Given the description of an element on the screen output the (x, y) to click on. 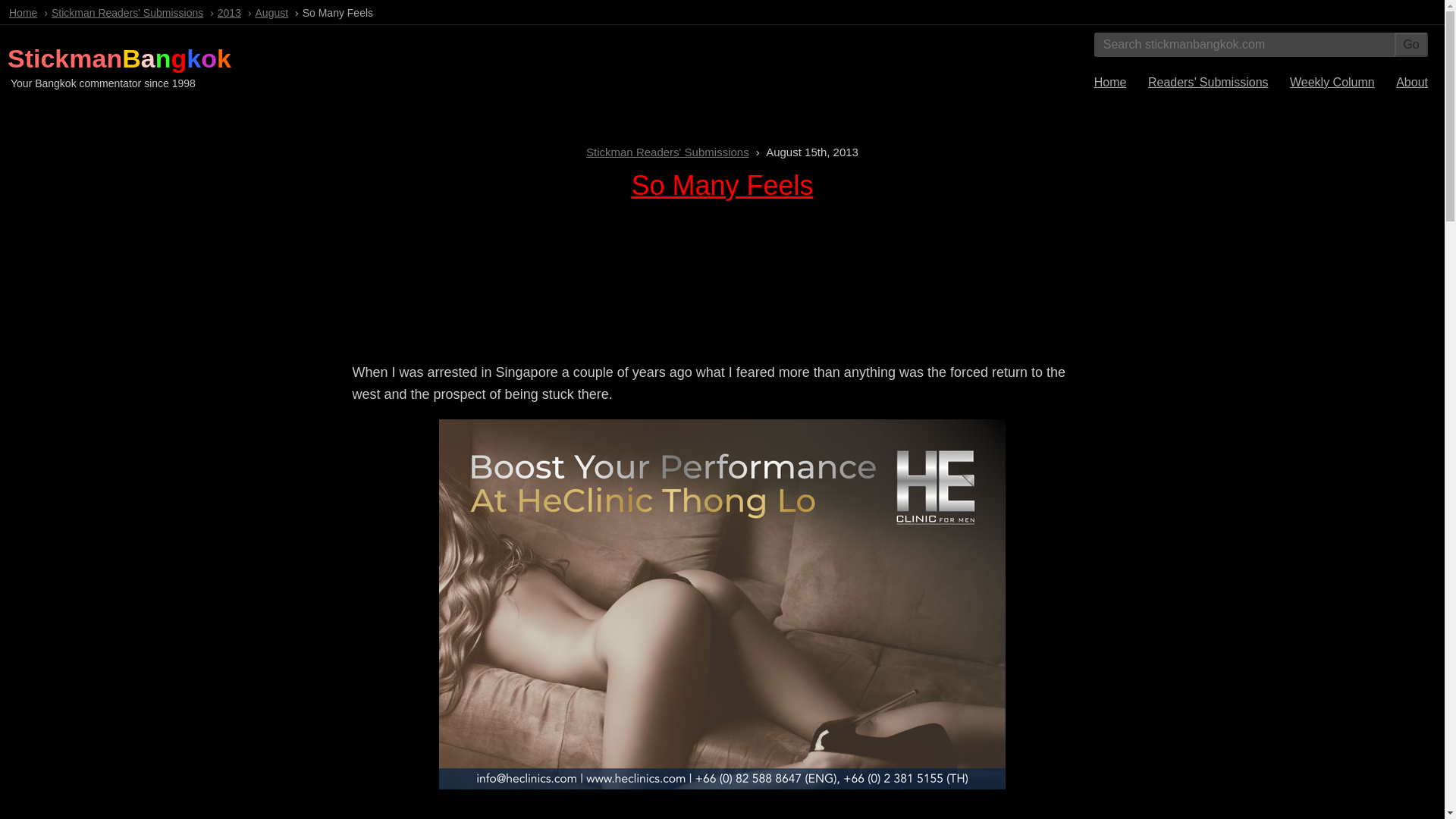
StickmanBangkok (119, 58)
Home (1109, 82)
August (272, 12)
Go (1411, 44)
Weekly Column (1332, 82)
Home (22, 12)
2013 (228, 12)
Stickman Readers' Submissions (667, 151)
About (1412, 82)
Stickman Readers' Submissions (126, 12)
